Given the description of an element on the screen output the (x, y) to click on. 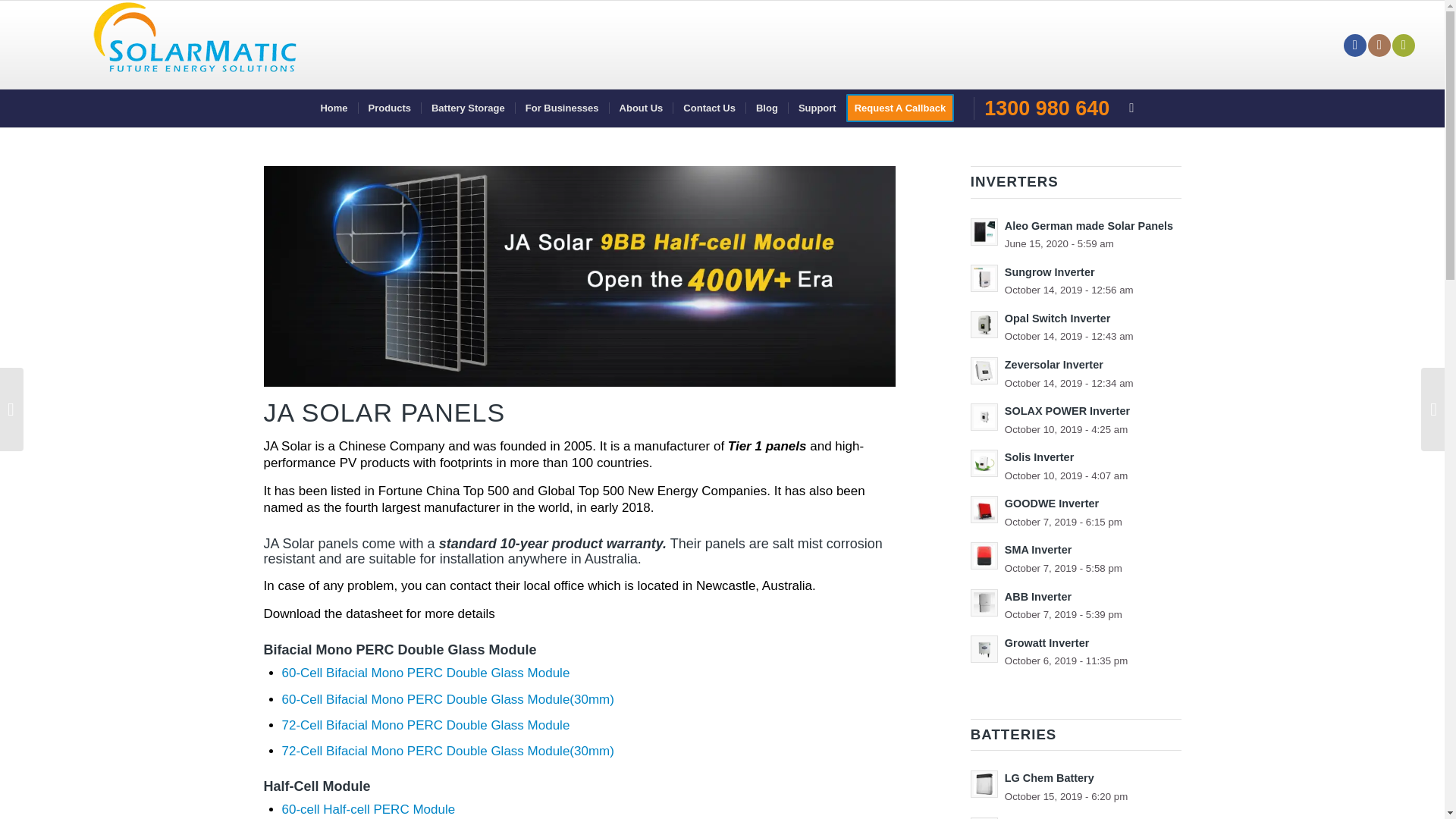
Battery Storage (467, 108)
Mail (1403, 45)
SOLAX POWER Inverter (1075, 419)
Facebook (1355, 45)
For Businesses (561, 108)
SMA Inverter (1075, 558)
Instagram (1379, 45)
Contact Us (708, 108)
GOODWE Inverter (1075, 512)
Sungrow Inverter (1075, 280)
